Given the description of an element on the screen output the (x, y) to click on. 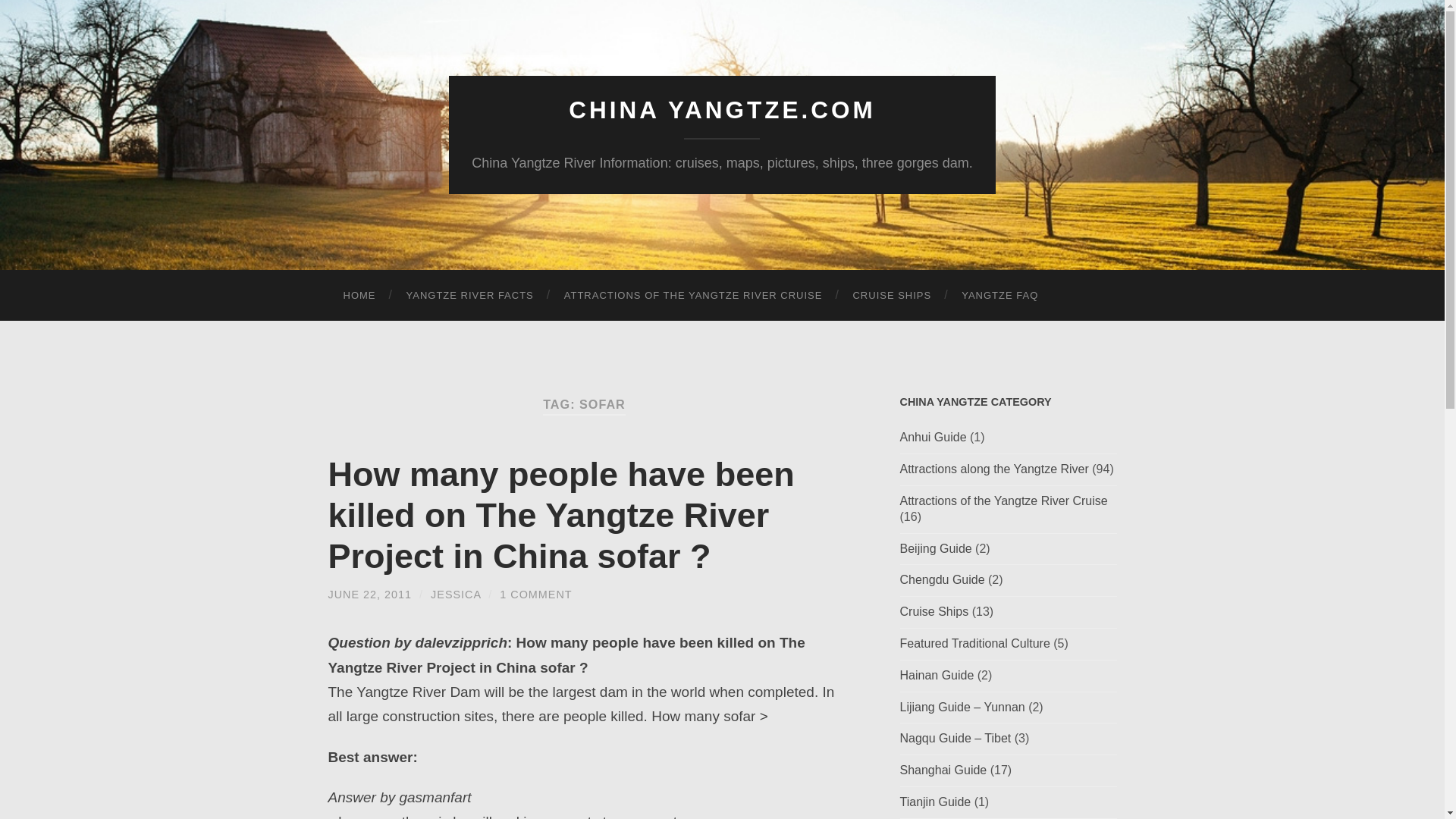
HOME (358, 295)
CHINA YANGTZE.COM (722, 109)
Shanghai Guide (943, 769)
Chengdu Guide (941, 579)
Tianjin Guide (935, 801)
YANGTZE FAQ (999, 295)
Cruise Ships (933, 611)
Posts by jessica (455, 594)
Attractions along the Yangtze River (993, 468)
Beijing Guide (935, 548)
1 COMMENT (535, 594)
CRUISE SHIPS (891, 295)
Featured Traditional Culture (974, 643)
ATTRACTIONS OF THE YANGTZE RIVER CRUISE (693, 295)
